Given the description of an element on the screen output the (x, y) to click on. 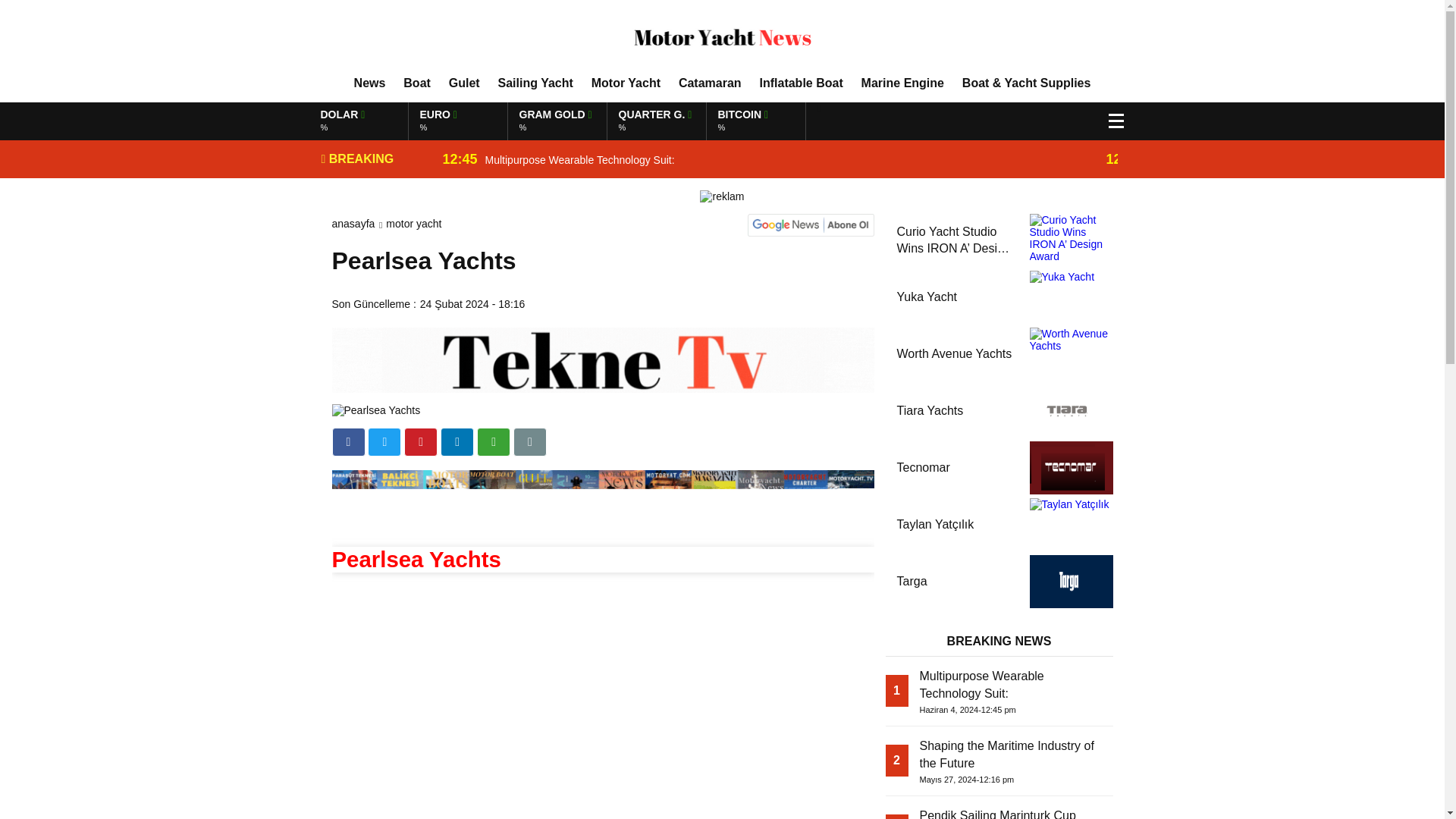
Gulet (464, 83)
Inflatable Boat (800, 83)
Catamaran (710, 83)
anasayfa (353, 223)
Motor Yacht (625, 83)
Multipurpose Wearable Technology Suit: (774, 159)
Boat (774, 159)
Marine Engine (417, 83)
News (902, 83)
motor yacht (369, 83)
Sailing Yacht (413, 223)
Anasayfa (535, 83)
